Given the description of an element on the screen output the (x, y) to click on. 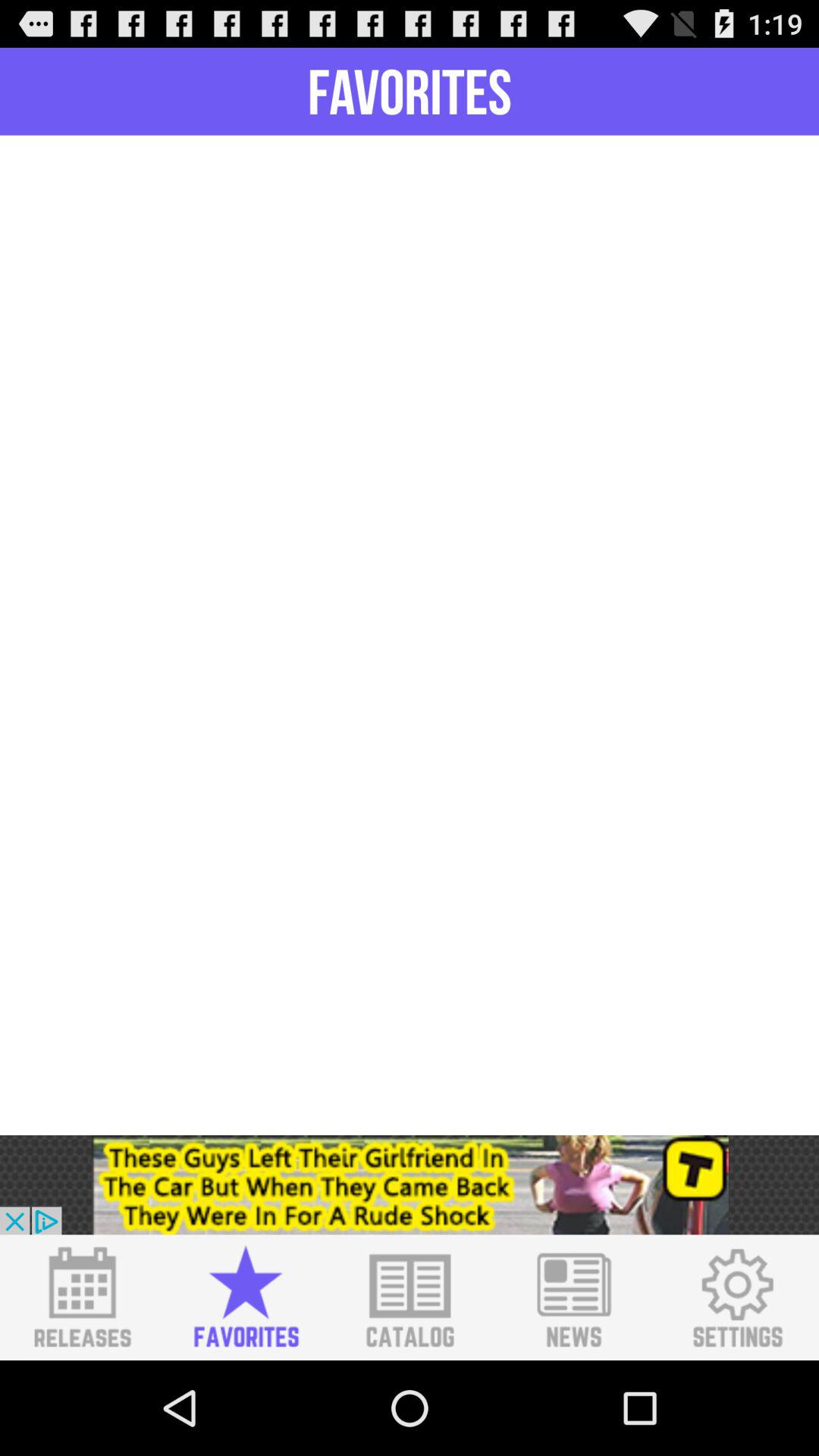
favorites list (245, 1297)
